Given the description of an element on the screen output the (x, y) to click on. 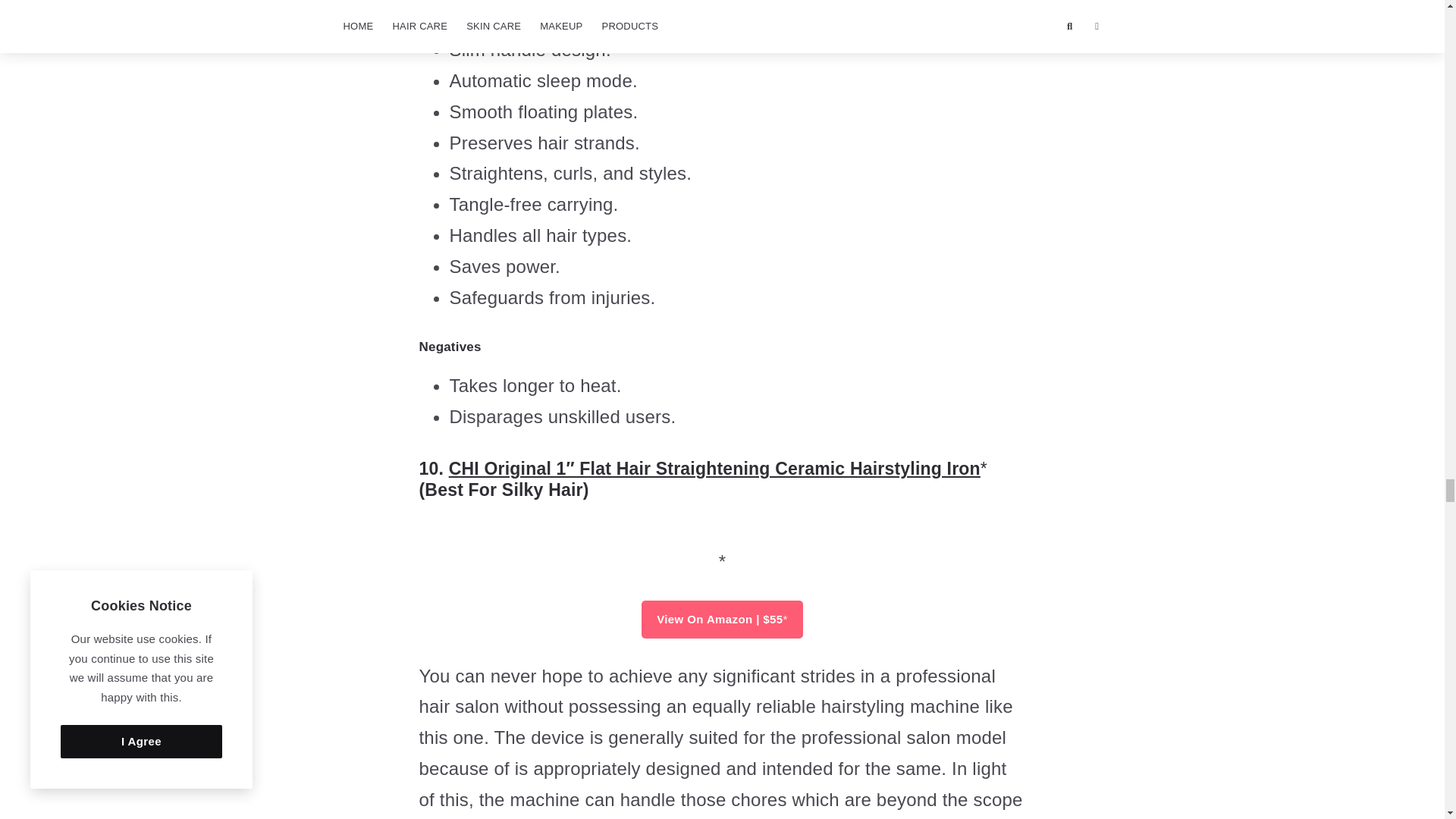
CHI Original 1 inch Flat Hair (722, 544)
